Given the description of an element on the screen output the (x, y) to click on. 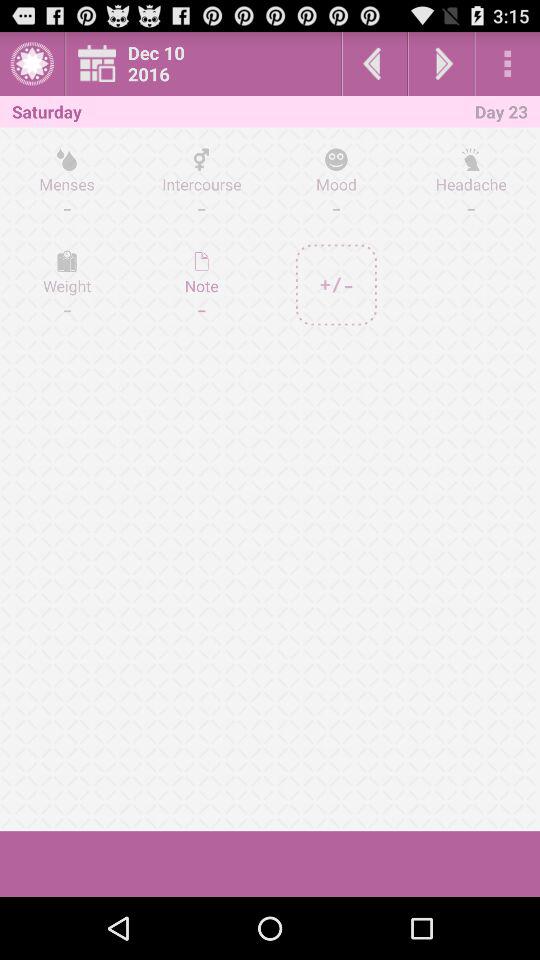
scroll to the intercourse
_ (201, 183)
